Given the description of an element on the screen output the (x, y) to click on. 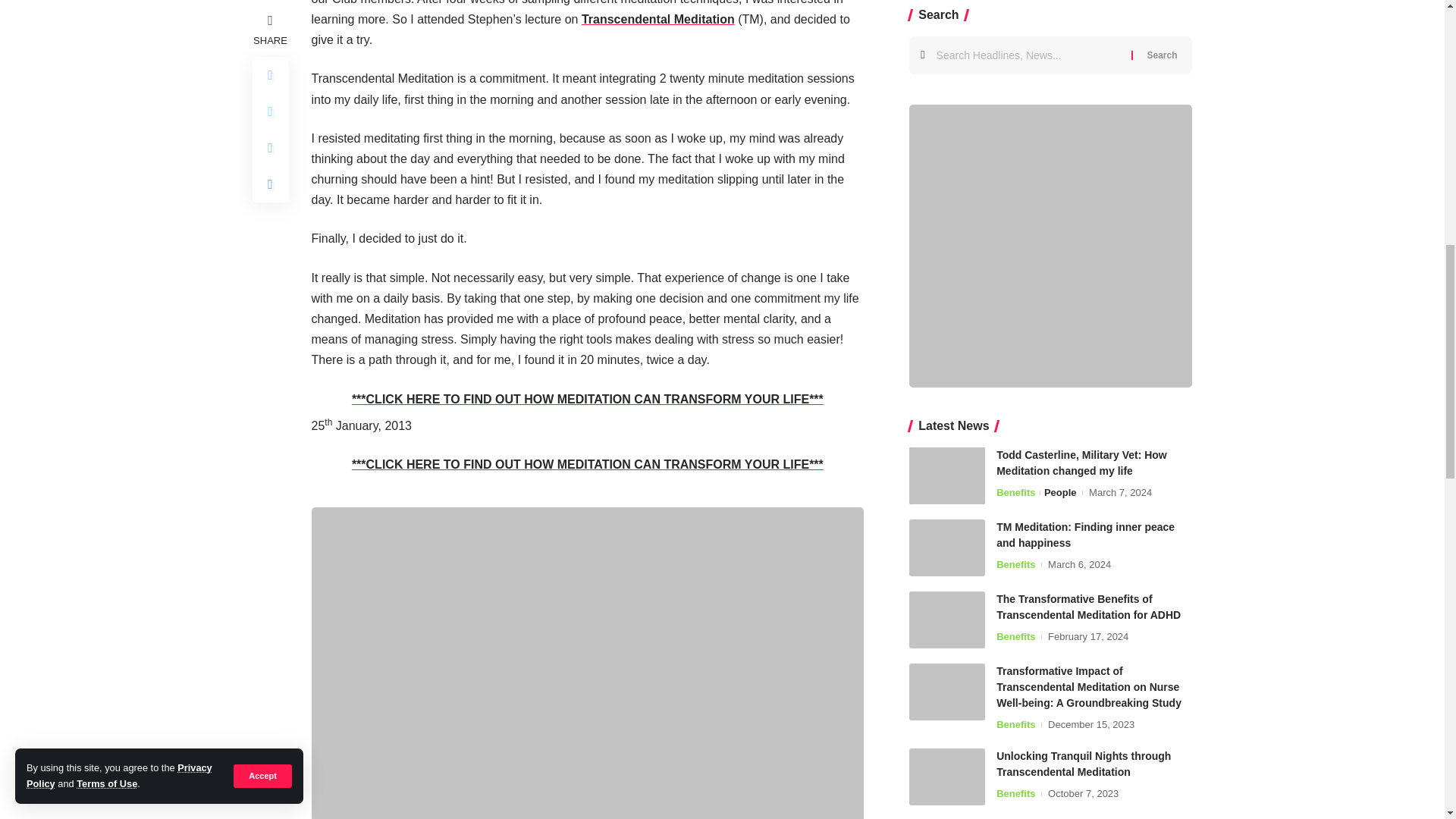
Transcendental Meditation: benefits matter! (657, 19)
TM Meditation: Finding inner peace and happiness (946, 1)
